Given the description of an element on the screen output the (x, y) to click on. 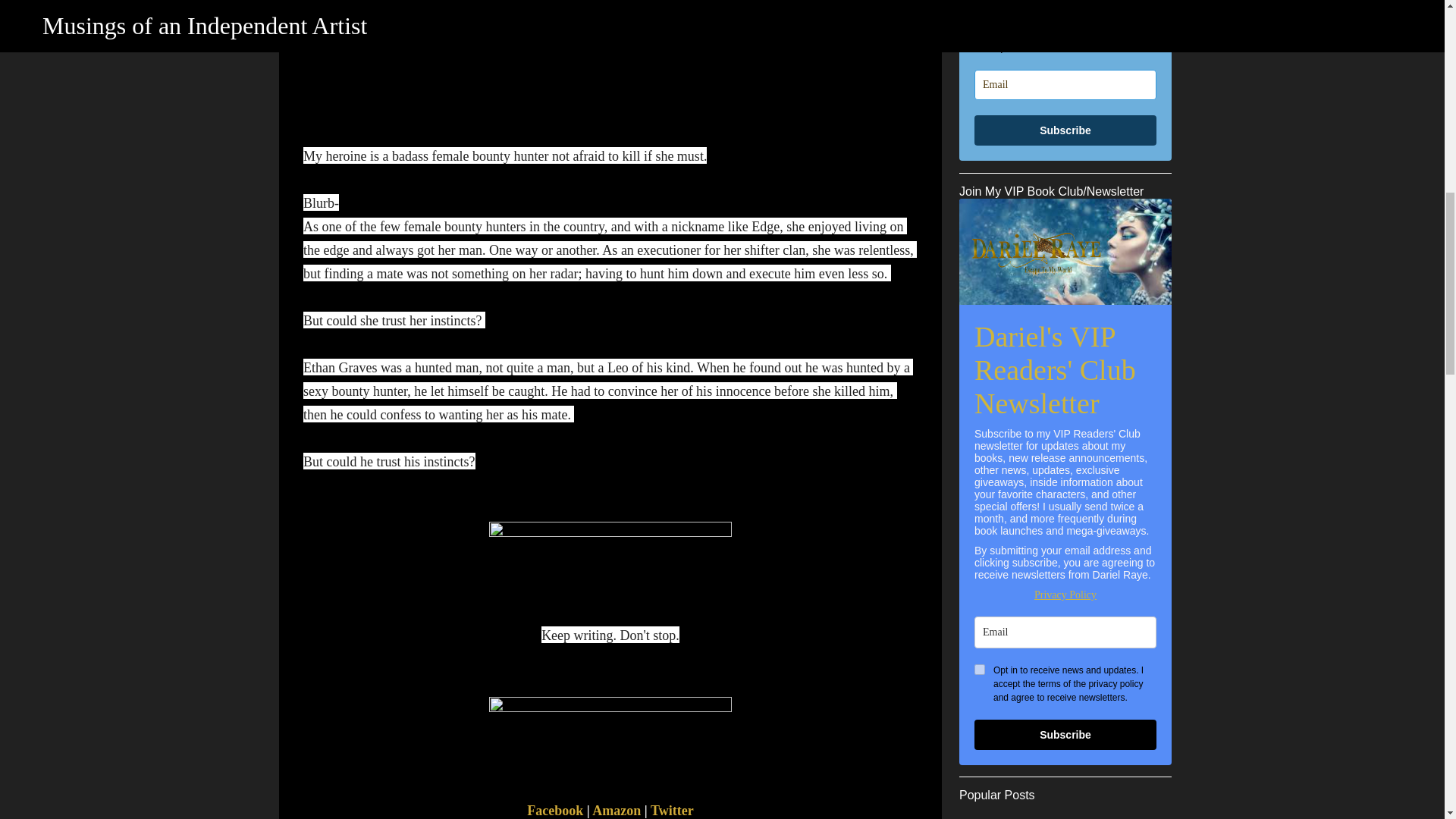
Privacy Policy (1064, 594)
Subscribe (1065, 130)
on (979, 669)
Amazon (616, 810)
Facebook (555, 810)
Twitter (672, 810)
Subscribe (1065, 734)
